Given the description of an element on the screen output the (x, y) to click on. 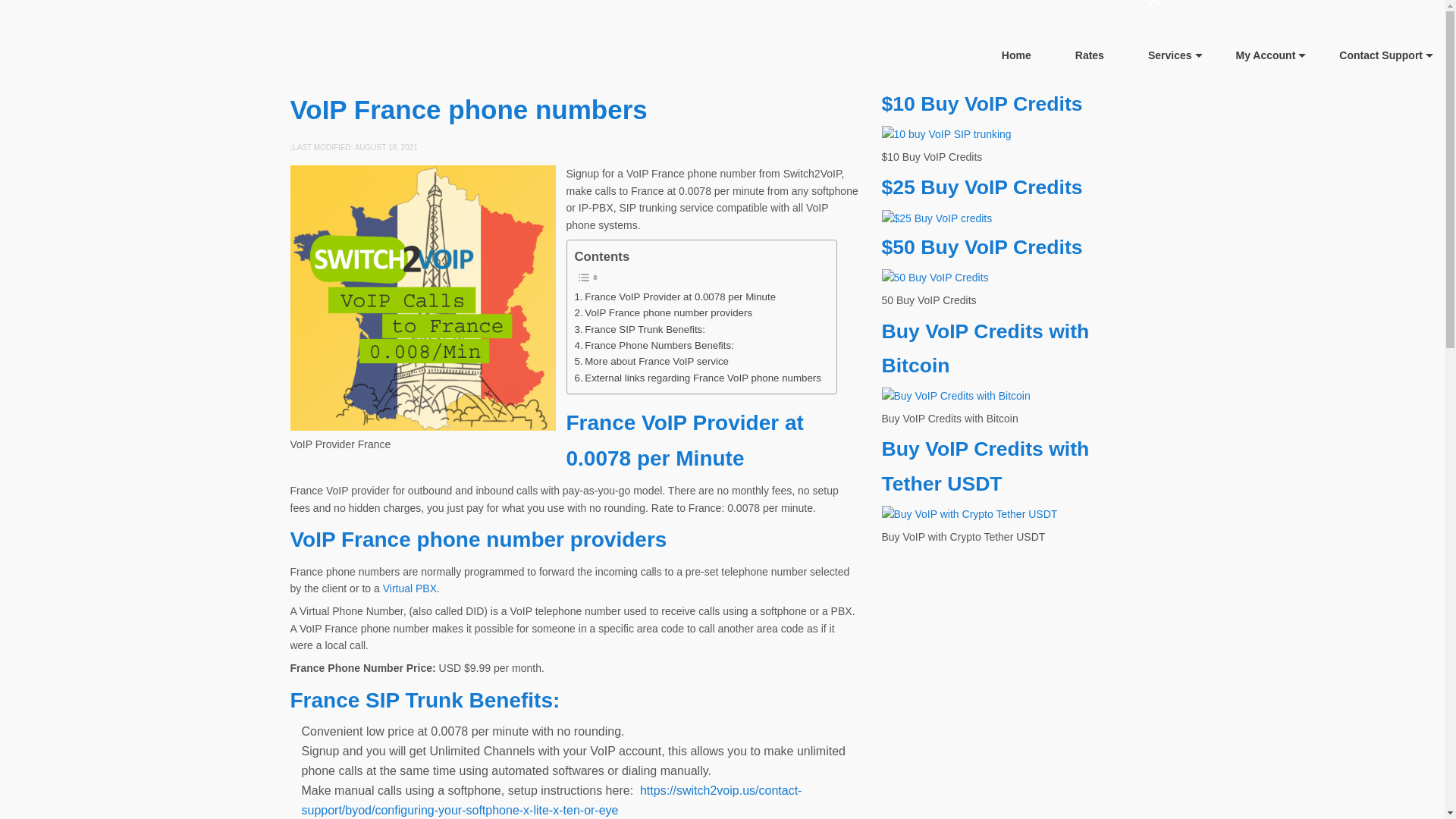
Home (1015, 55)
Rates (1089, 55)
More about France VoIP service (652, 360)
France SIP Trunk Benefits: (639, 329)
Buy VoIP with Crypto Tether USDT (968, 514)
France VoIP Provider at 0.0078 per Minute (675, 296)
voip france (421, 297)
VoIP France phone number providers (663, 312)
External links regarding France VoIP phone numbers (698, 377)
My Account (1265, 55)
